Given the description of an element on the screen output the (x, y) to click on. 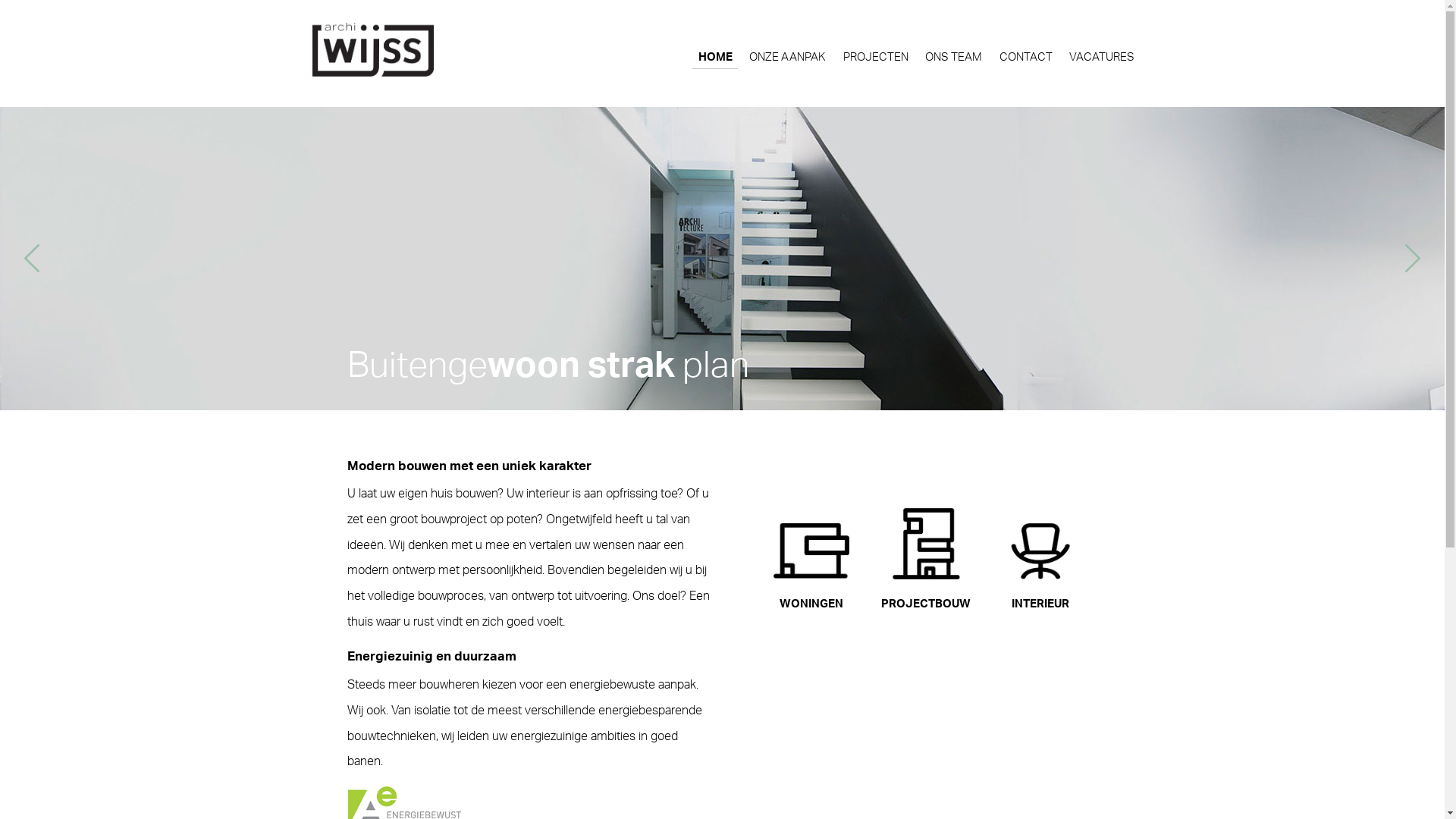
WONINGEN Element type: text (811, 557)
PROJECTBOUW Element type: text (925, 557)
VACATURES Element type: text (1101, 57)
CONTACT Element type: text (1025, 57)
INTERIEUR Element type: text (1039, 557)
ONZE AANPAK Element type: text (787, 57)
HOME Element type: text (714, 57)
PROJECTEN Element type: text (875, 57)
ONS TEAM Element type: text (953, 57)
